Given the description of an element on the screen output the (x, y) to click on. 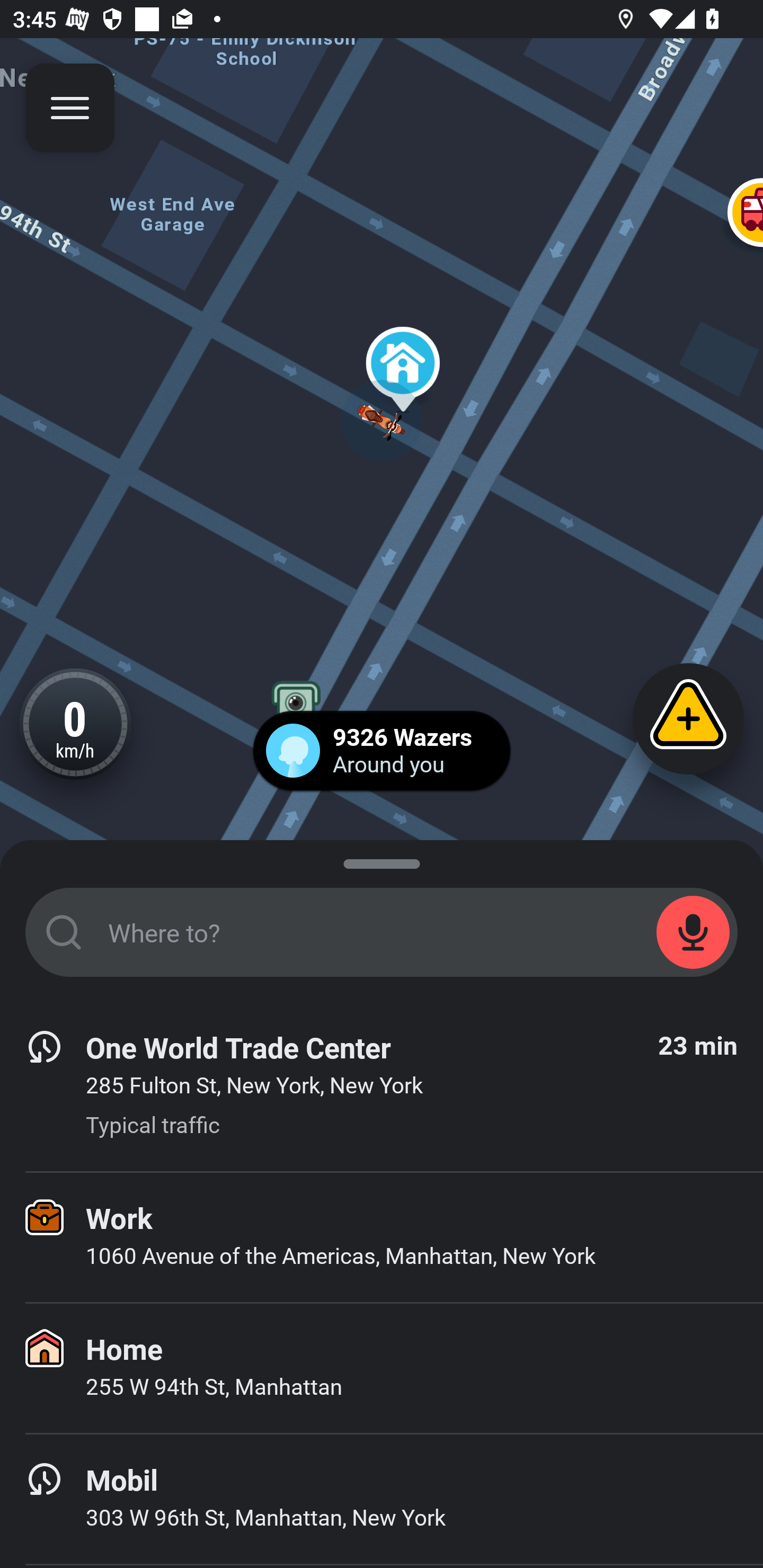
SUGGESTIONS_SHEET_DRAG_HANDLE (381, 860)
START_STATE_SEARCH_FIELD Where to? (381, 931)
Home 255 W 94th St, Manhattan (381, 1368)
Mobil 303 W 96th St, Manhattan, New York (381, 1498)
